Given the description of an element on the screen output the (x, y) to click on. 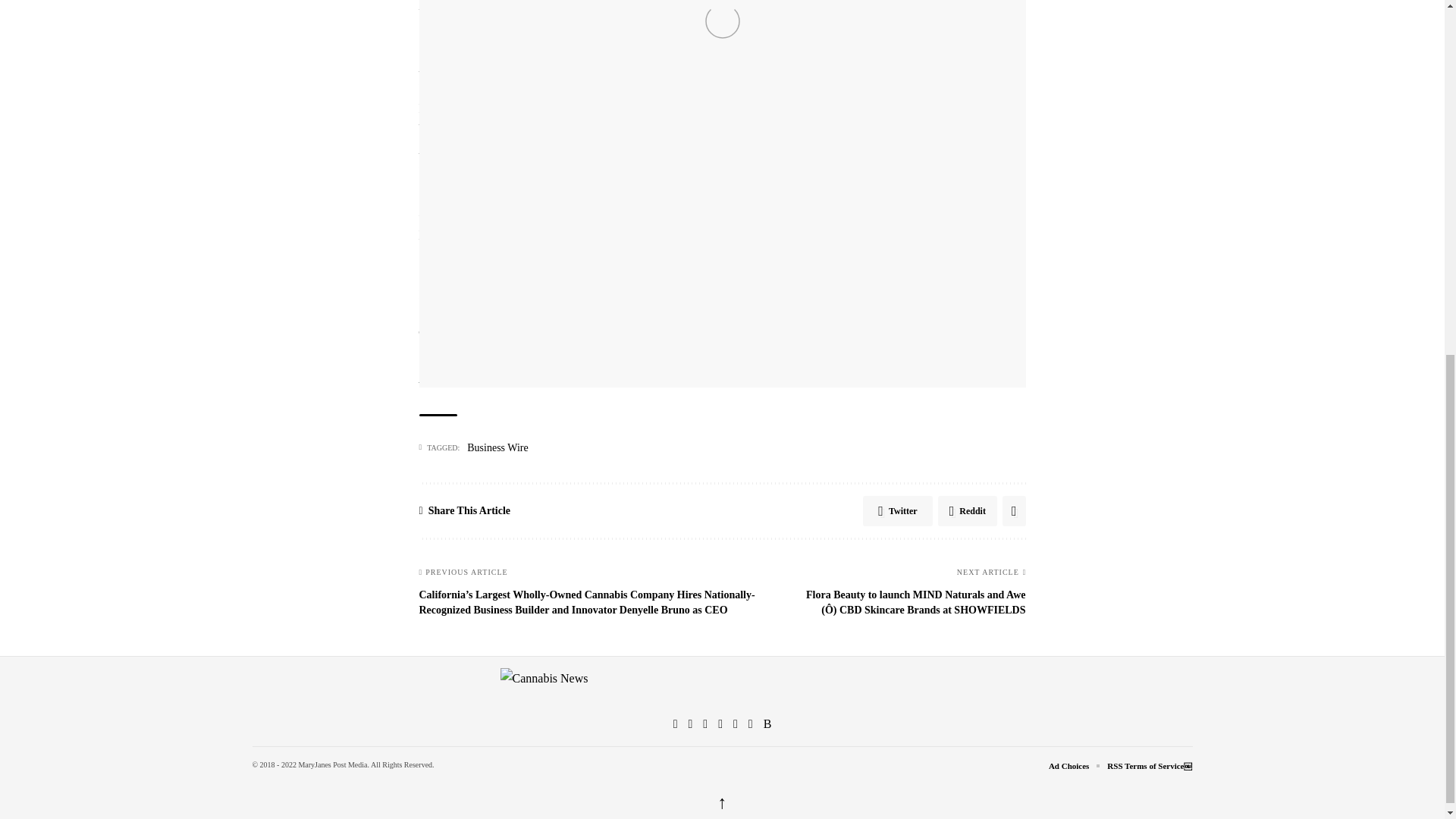
Cannabis News (722, 686)
